Given the description of an element on the screen output the (x, y) to click on. 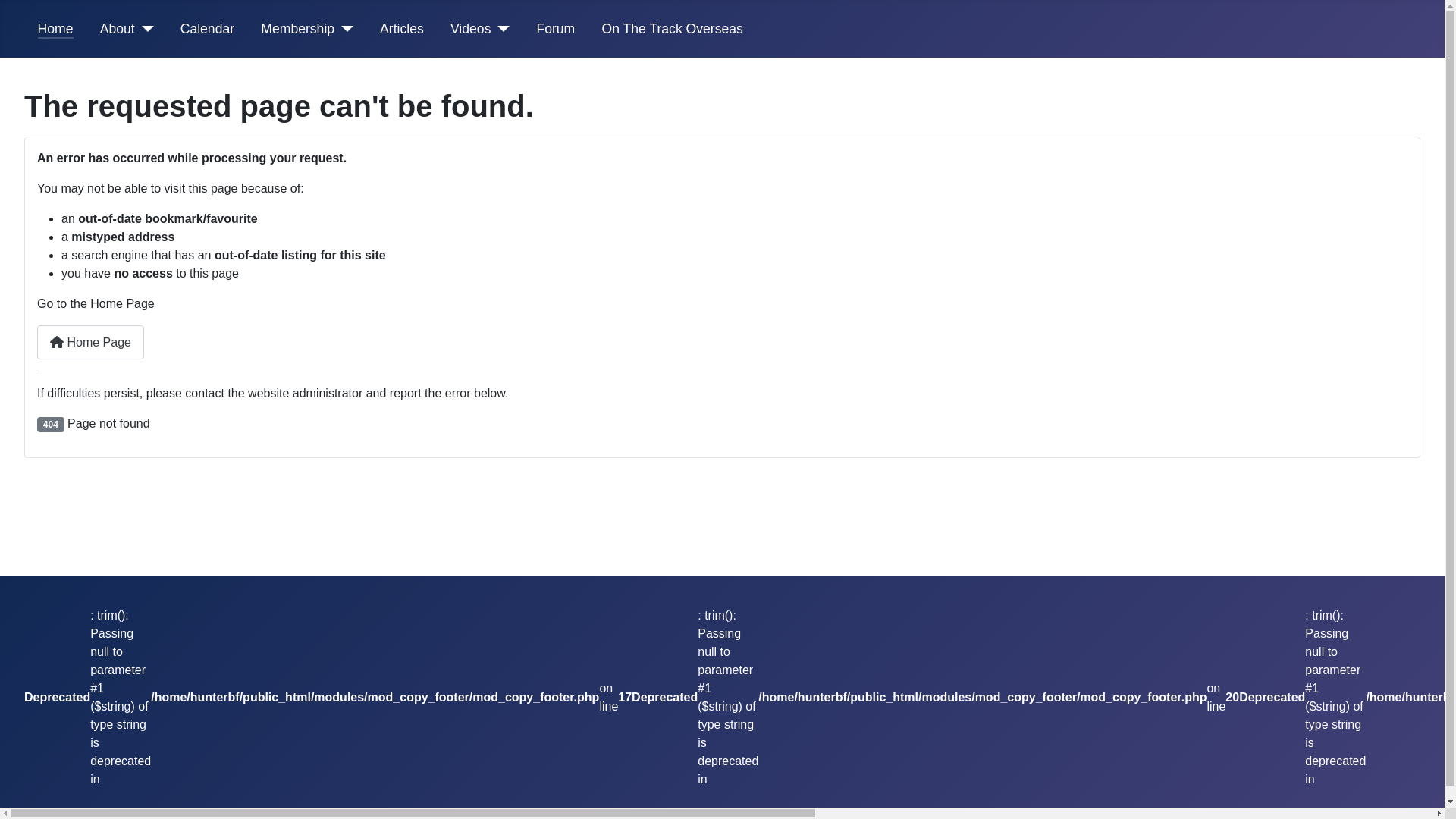
Home Element type: text (55, 28)
Home Page Element type: text (90, 342)
Forum Element type: text (555, 28)
Articles Element type: text (401, 28)
Membership Element type: text (297, 28)
Videos Element type: text (470, 28)
Calendar Element type: text (207, 28)
On The Track Overseas Element type: text (671, 28)
About Element type: text (117, 28)
